Given the description of an element on the screen output the (x, y) to click on. 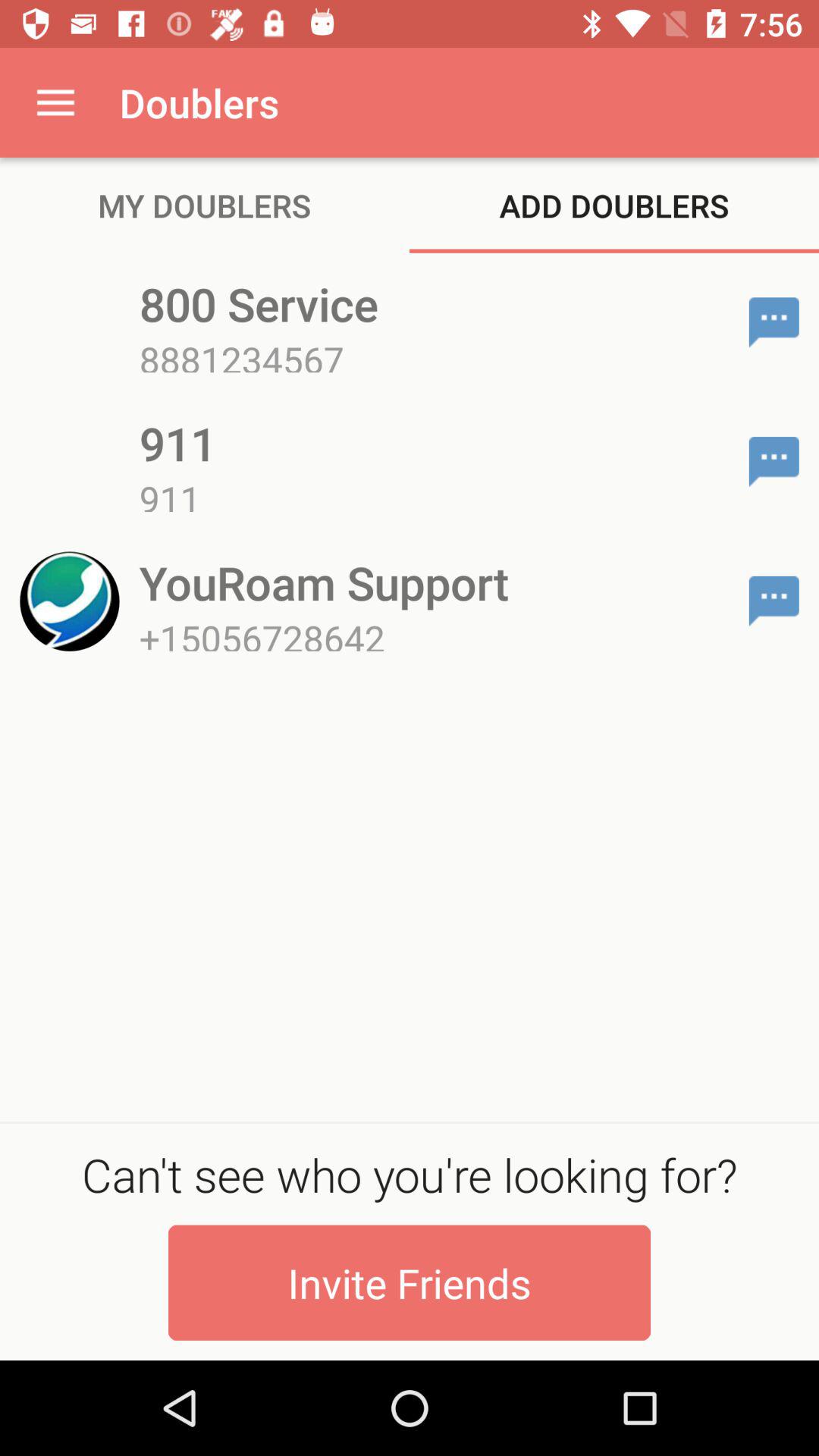
chat with number (774, 601)
